Given the description of an element on the screen output the (x, y) to click on. 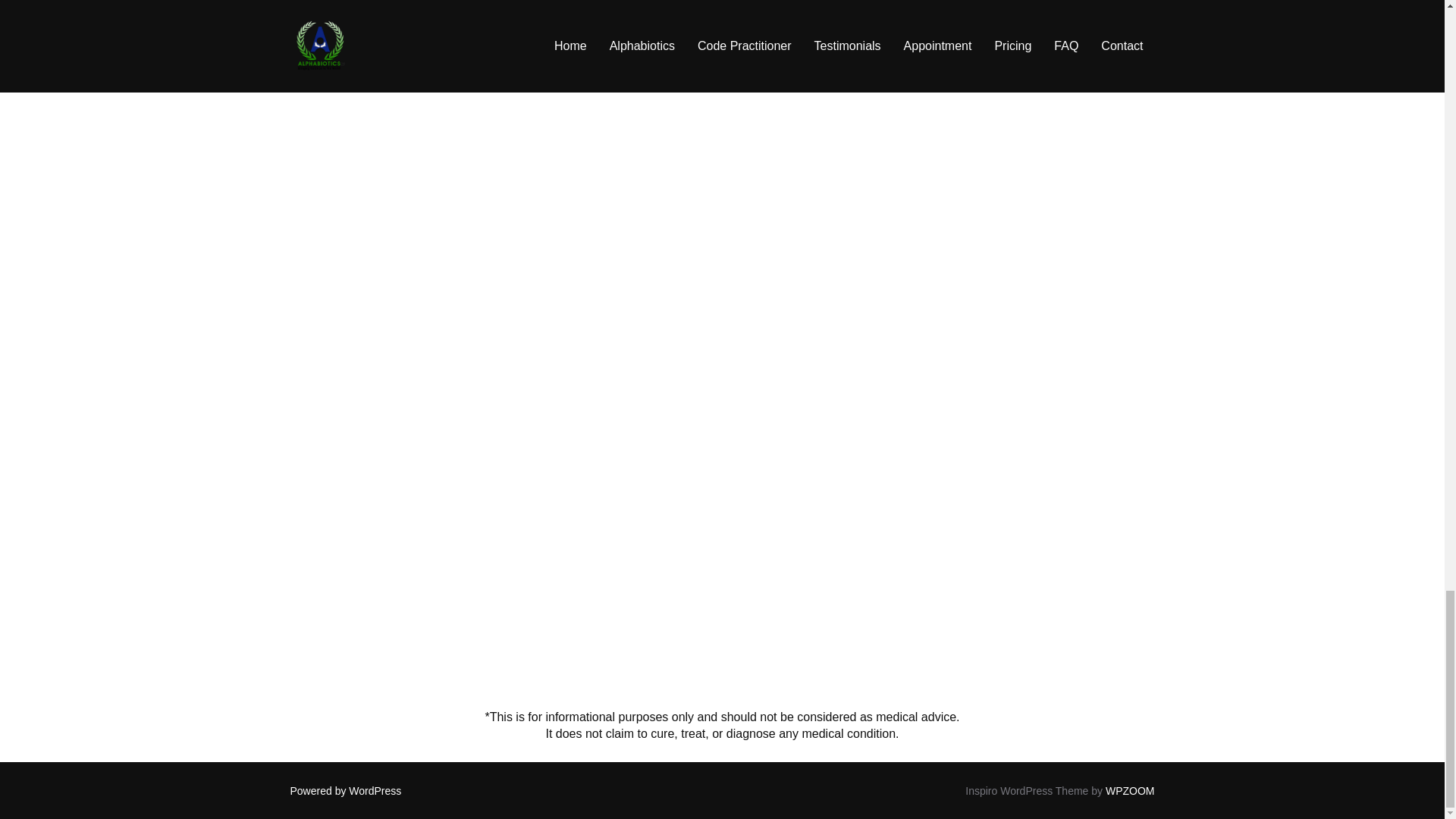
Powered by WordPress (345, 790)
WPZOOM (1129, 790)
